Given the description of an element on the screen output the (x, y) to click on. 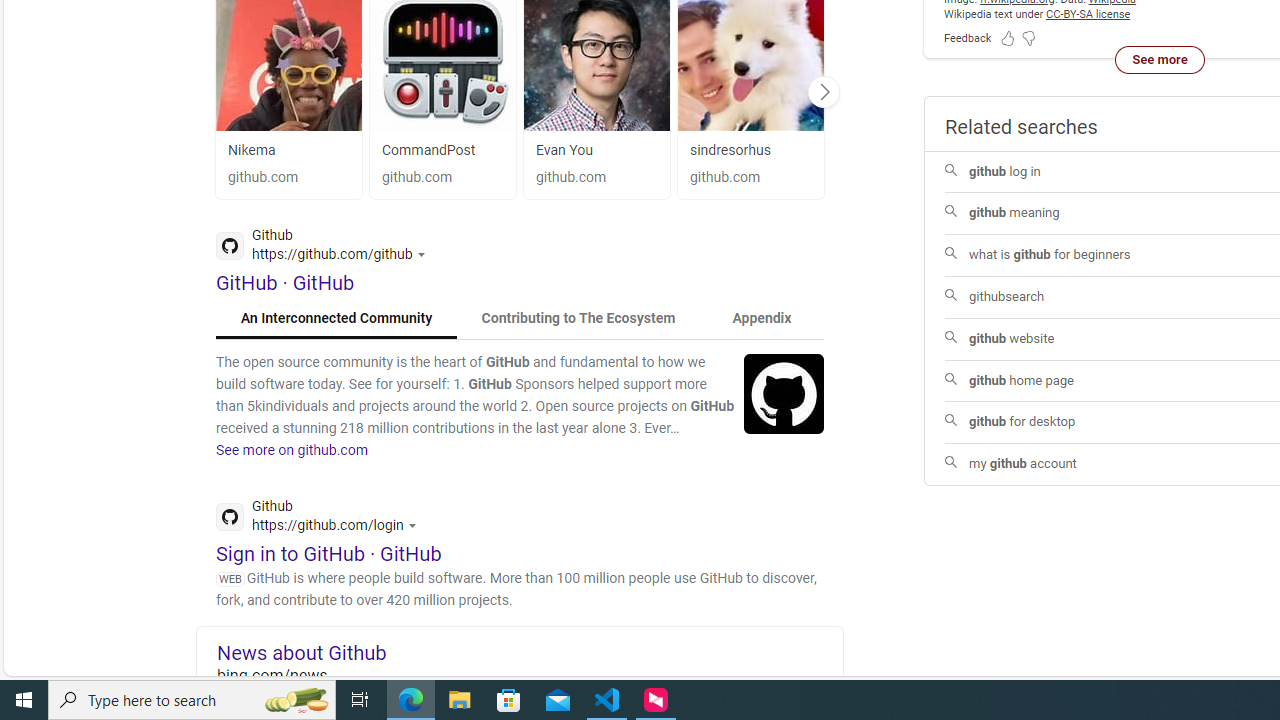
Appendix (761, 318)
Nikema (251, 150)
Image (783, 393)
News about Github (530, 651)
Feedback Like (1007, 38)
Github (321, 518)
See more on github.com (292, 449)
sindresorhus (750, 150)
CC-BY-SA license (1088, 13)
Evan You (564, 150)
Evan You (596, 150)
Image (783, 393)
Feedback Dislike (1028, 38)
CommandPost (428, 150)
